Given the description of an element on the screen output the (x, y) to click on. 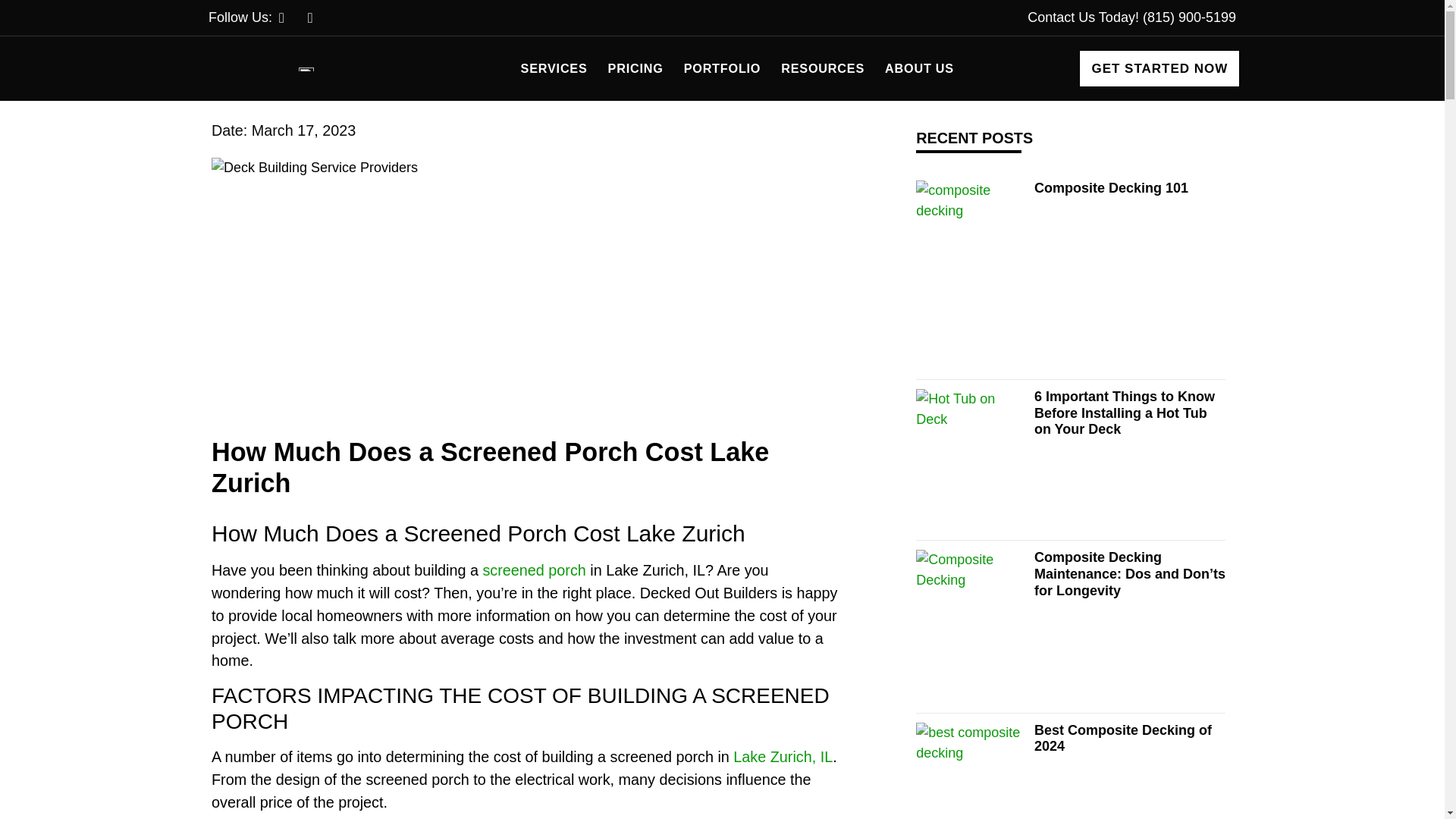
RESOURCES (822, 68)
ABOUT US (918, 68)
PRICING (635, 68)
PORTFOLIO (722, 68)
SERVICES (554, 68)
